Given the description of an element on the screen output the (x, y) to click on. 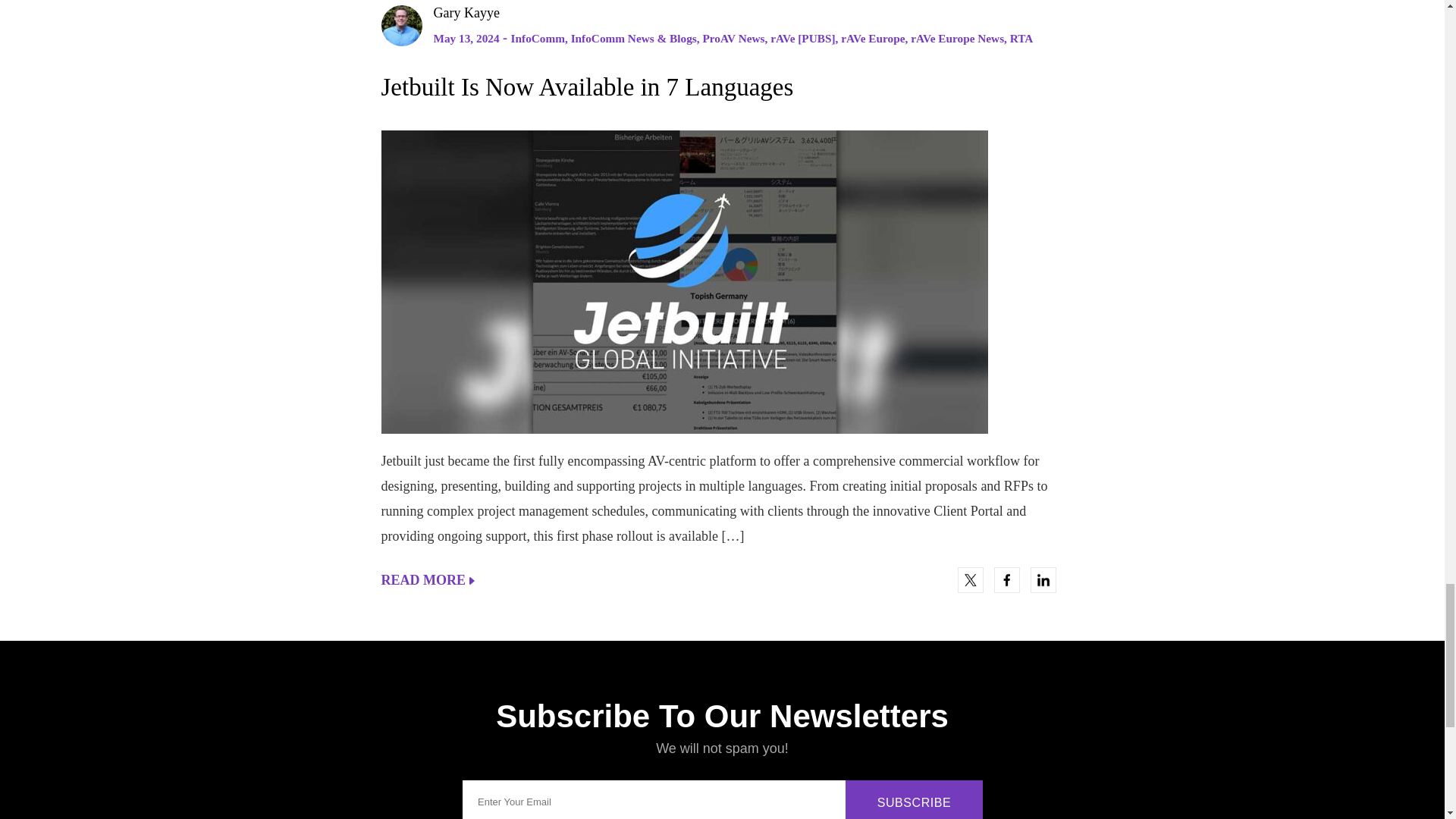
Subscribe (913, 799)
